Given the description of an element on the screen output the (x, y) to click on. 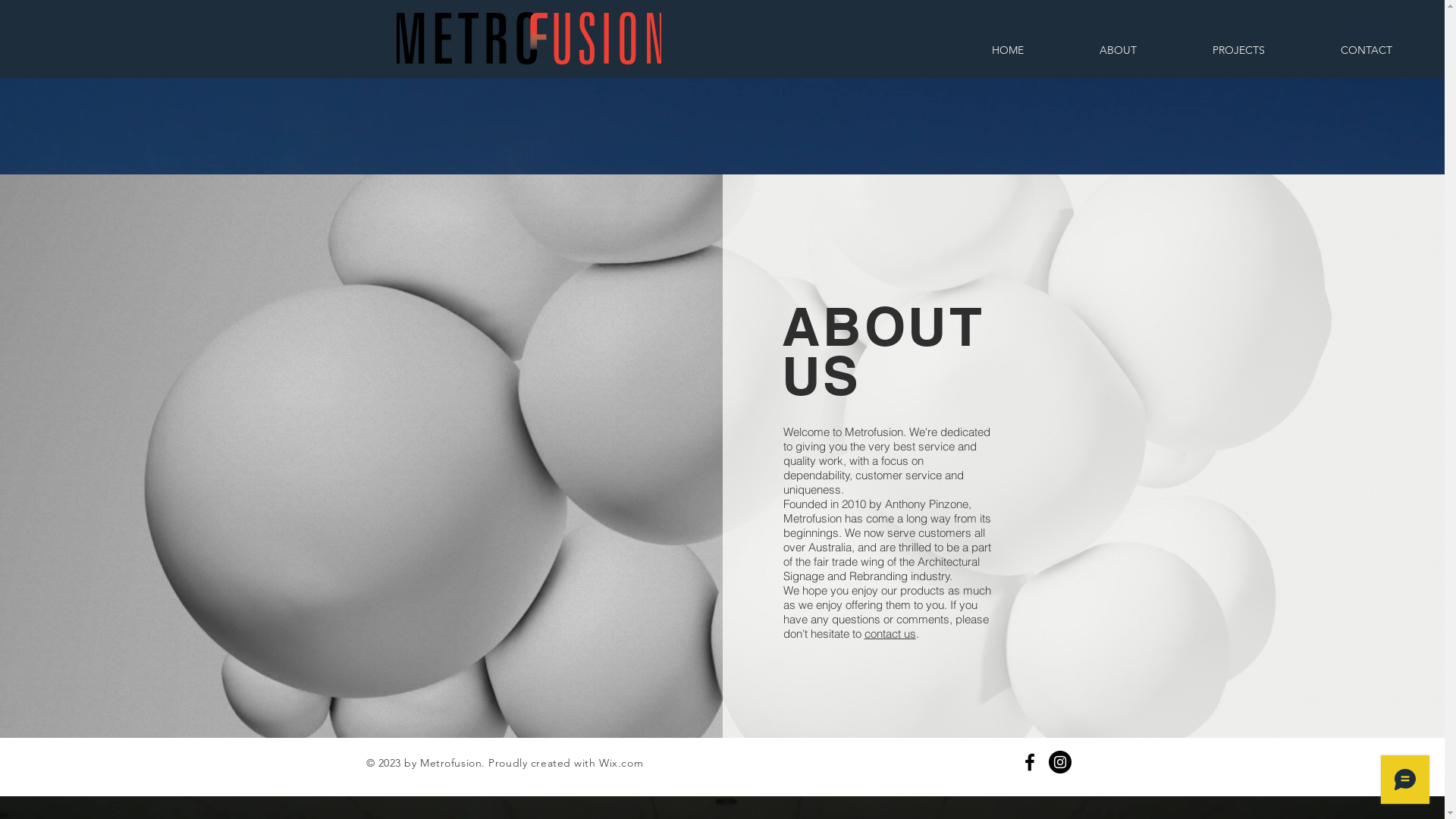
PROJECTS Element type: text (1238, 50)
CONTACT Element type: text (1365, 50)
contact us Element type: text (890, 633)
HOME Element type: text (1007, 50)
Wix.com Element type: text (621, 762)
ABOUT Element type: text (1117, 50)
